Given the description of an element on the screen output the (x, y) to click on. 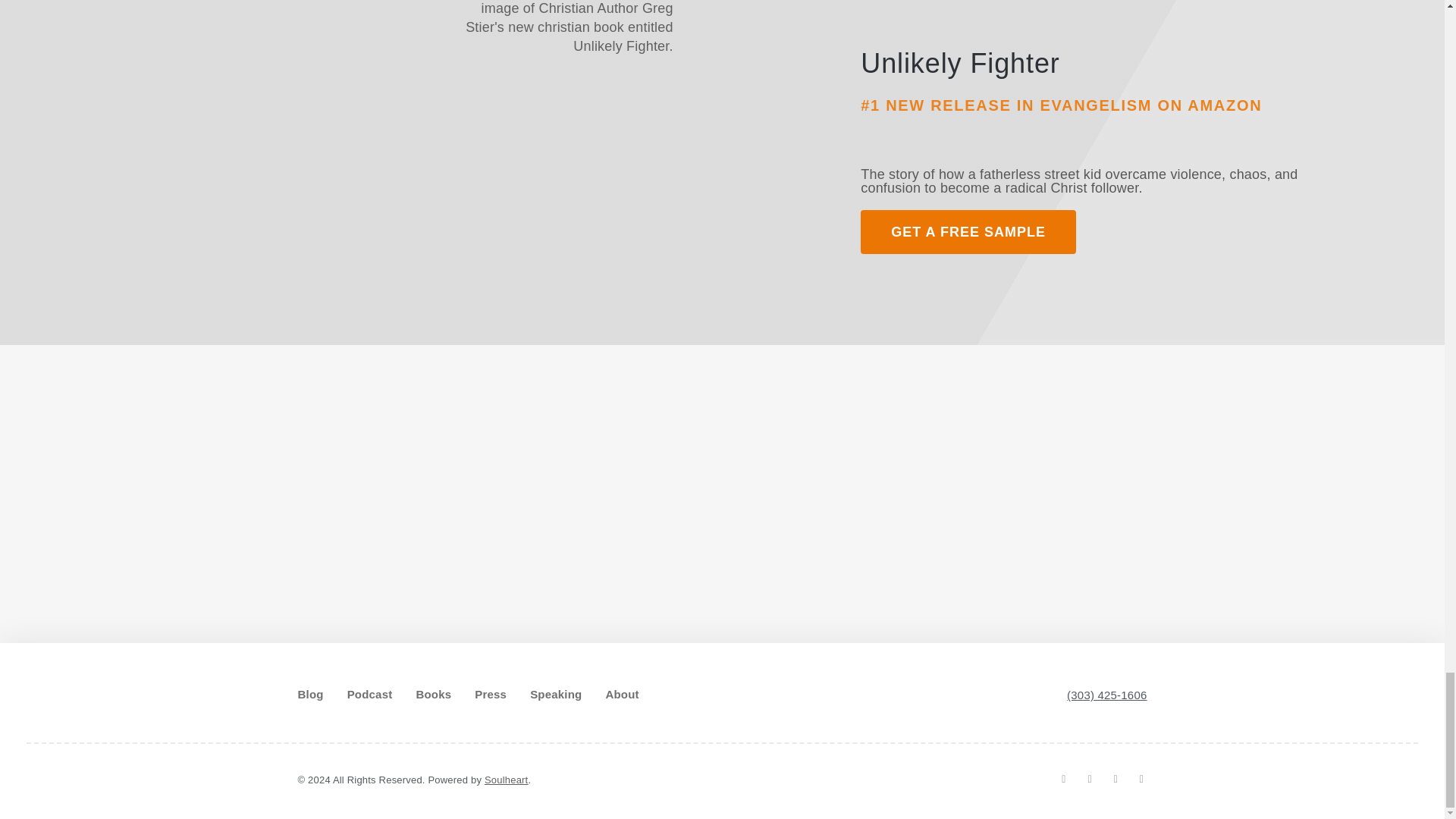
Podcast (370, 694)
GET A FREE SAMPLE (967, 231)
Speaking (554, 694)
Books (432, 694)
About (622, 694)
Press (490, 694)
